Given the description of an element on the screen output the (x, y) to click on. 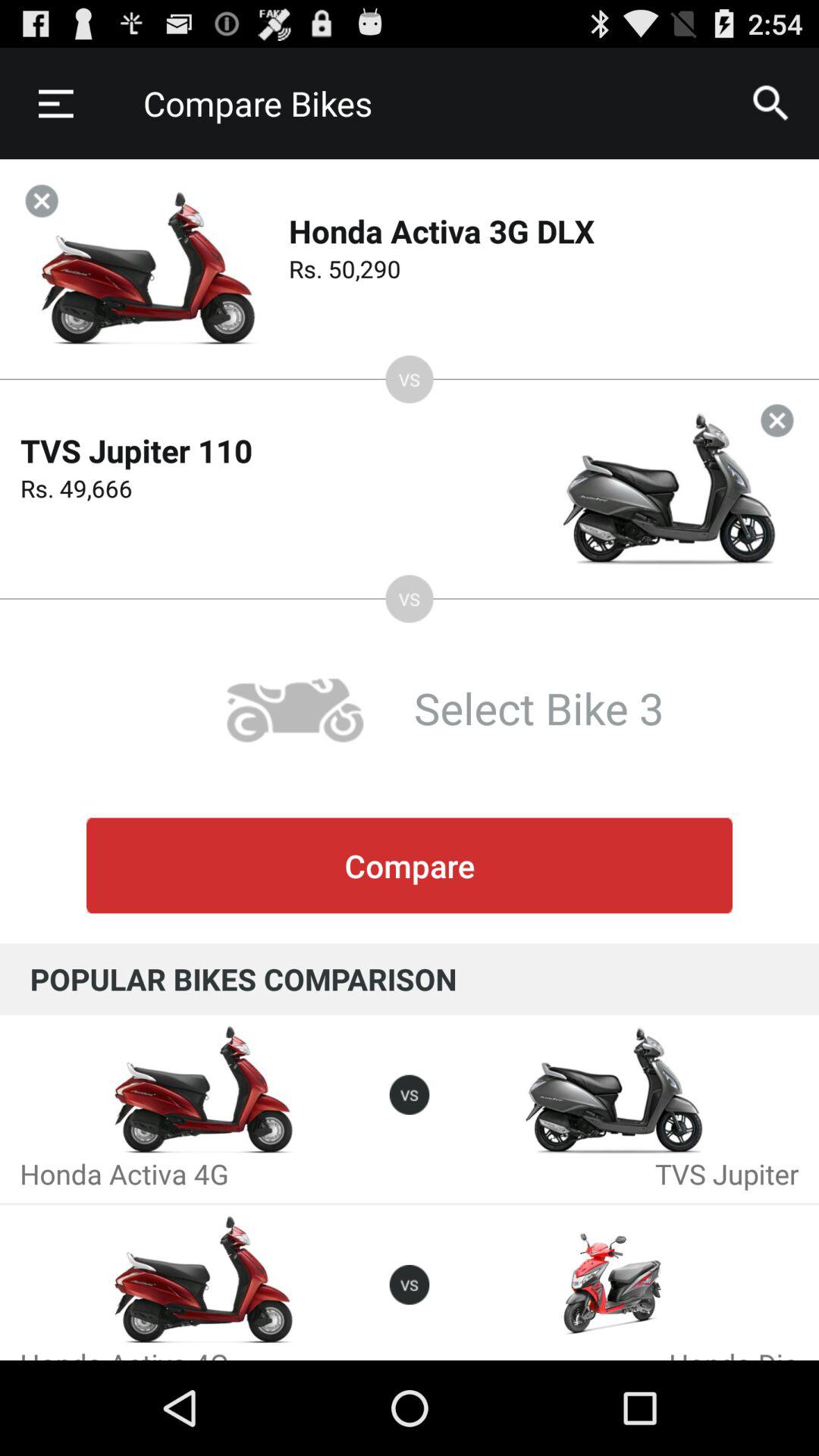
select the icon above rs. 50,290 icon (771, 103)
